Given the description of an element on the screen output the (x, y) to click on. 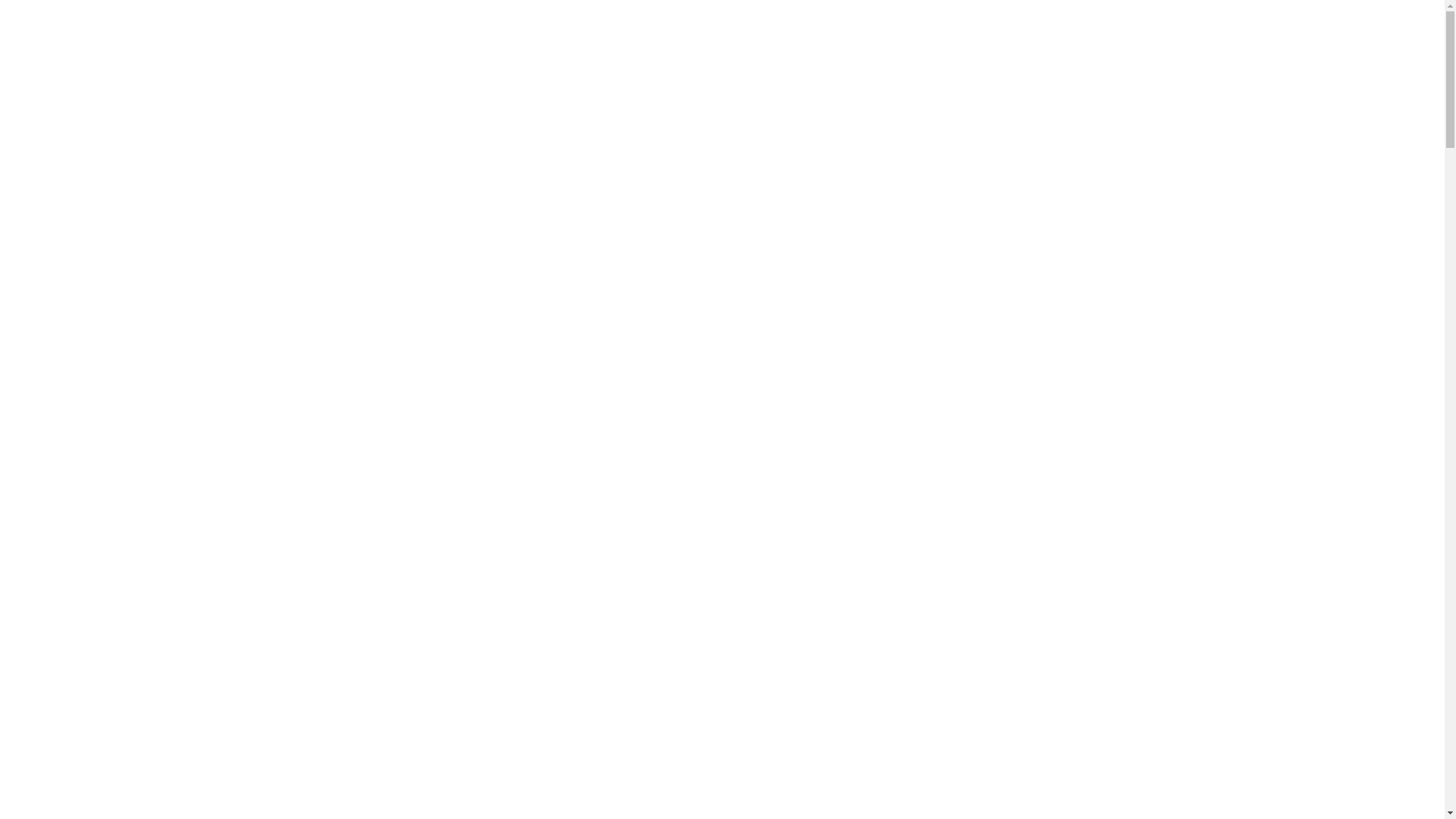
CONTACT Element type: text (1109, 58)
OUR TEAM Element type: text (944, 58)
HELLO Element type: text (604, 58)
Dyson & Long Element type: hover (372, 107)
PRODUCTS Element type: text (850, 58)
ABOUT Element type: text (679, 58)
SERVICES Element type: text (759, 58)
FUNDS Element type: text (1028, 58)
